Given the description of an element on the screen output the (x, y) to click on. 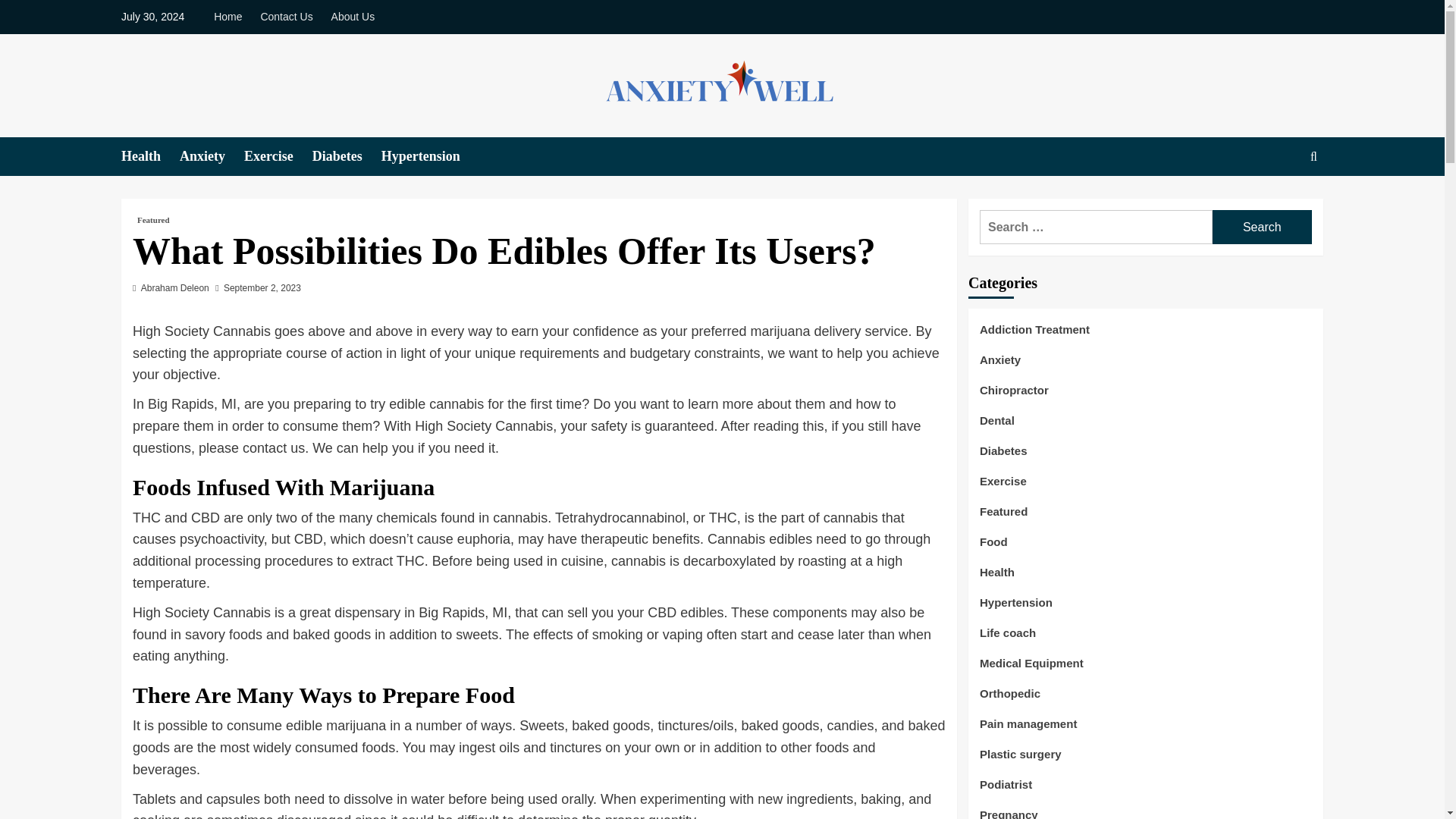
Search (1261, 226)
Search (1261, 226)
Life coach (1007, 638)
Health (996, 577)
Diabetes (1003, 456)
Addiction Treatment (1034, 335)
Home (231, 17)
Health (149, 156)
Search (1261, 226)
Medical Equipment (1031, 668)
Exercise (278, 156)
Hypertension (1015, 608)
Orthopedic (1010, 699)
Exercise (1002, 487)
Chiropractor (1013, 396)
